Given the description of an element on the screen output the (x, y) to click on. 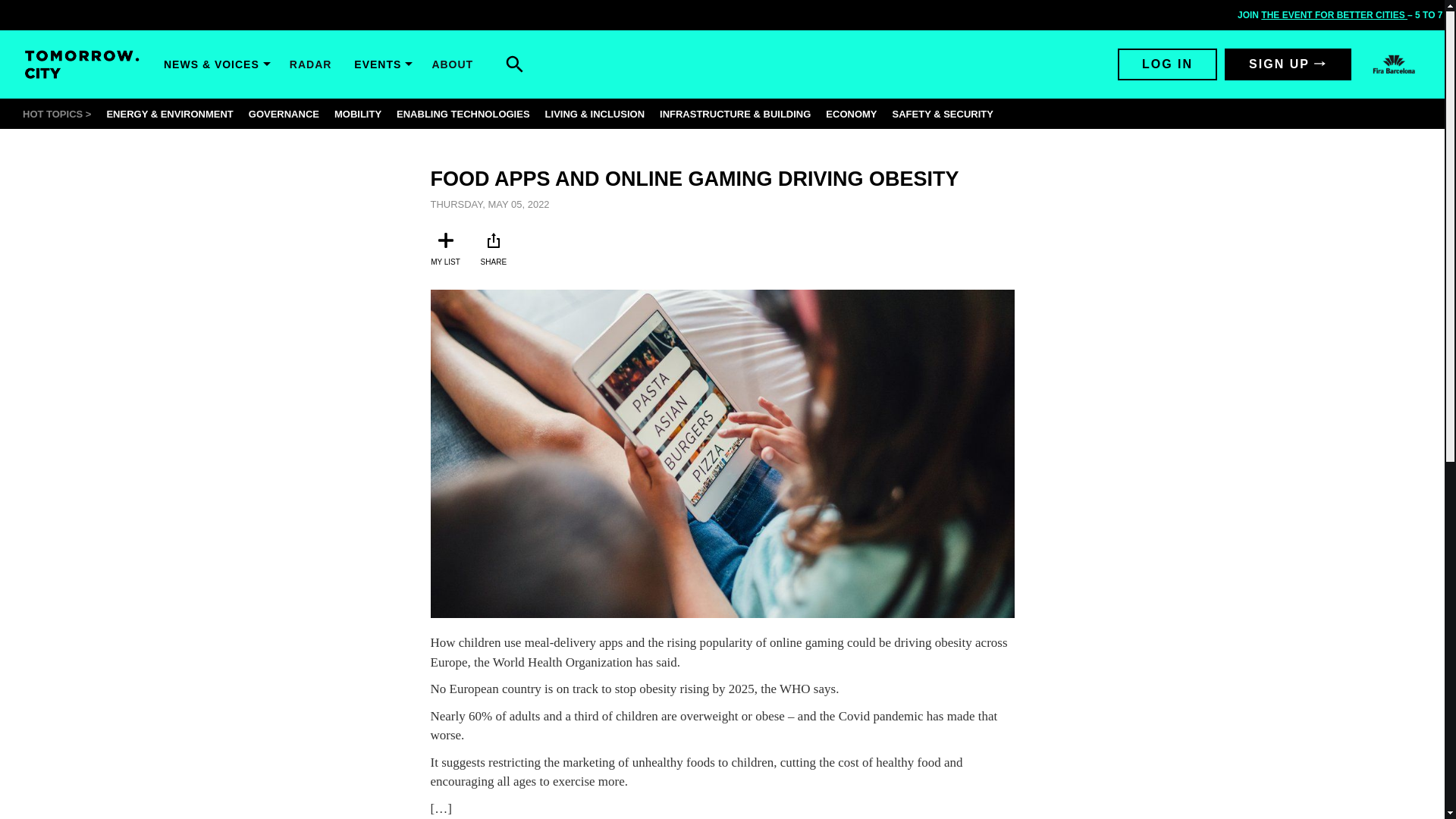
ECONOMY (850, 112)
fira-bcn logo (1394, 64)
SIGN UP (1287, 64)
ENABLING TECHNOLOGIES (462, 112)
Wordmark TomorrowCity black small (82, 64)
GOVERNANCE (283, 112)
MOBILITY (357, 112)
LOG IN (1167, 64)
